Given the description of an element on the screen output the (x, y) to click on. 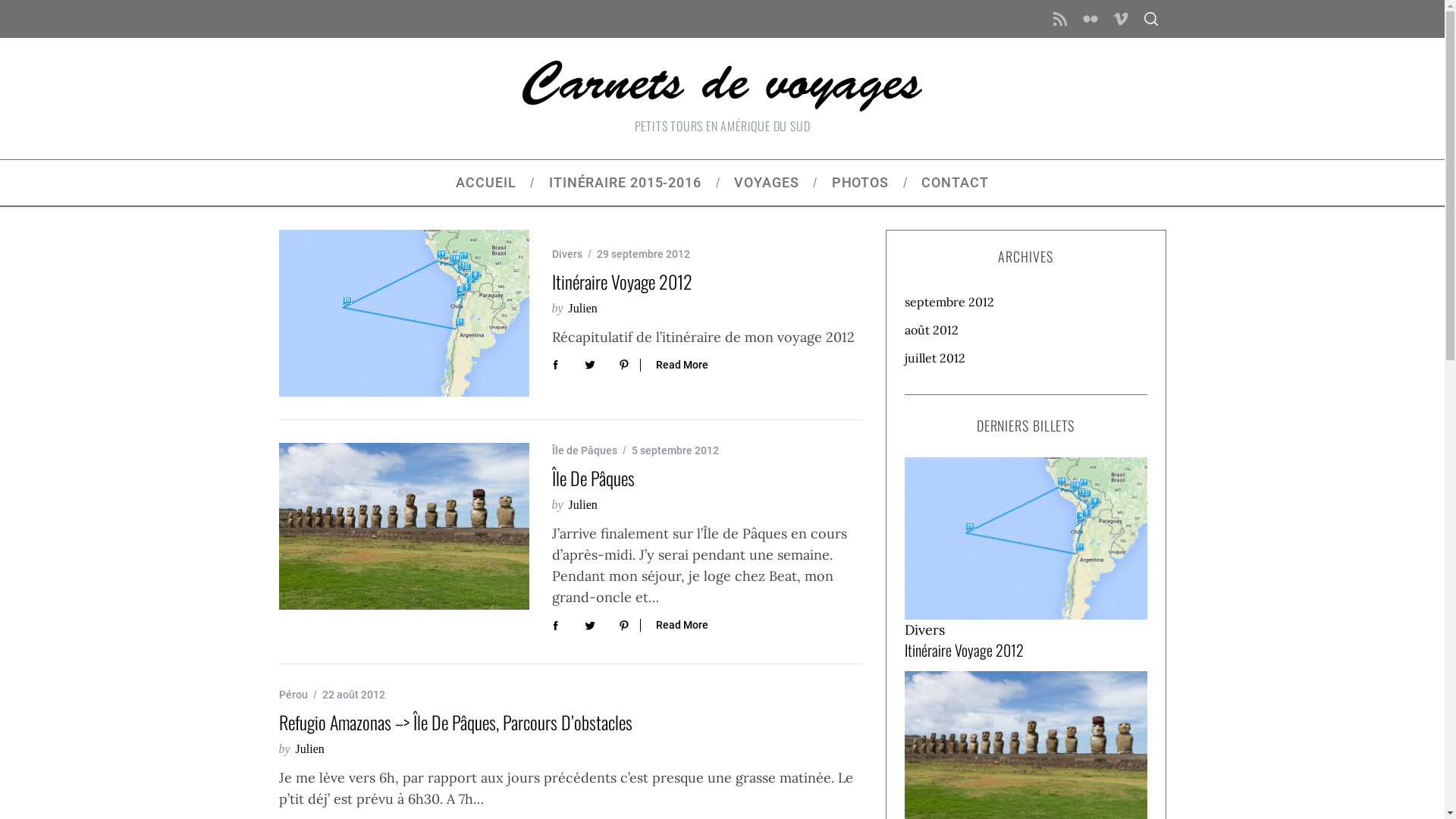
VOYAGES Element type: text (766, 182)
Read More Element type: text (674, 624)
ACCUEIL Element type: text (486, 182)
CONTACT Element type: text (955, 182)
Julien Element type: text (309, 748)
Julien Element type: text (582, 504)
septembre 2012 Element type: text (1024, 301)
juillet 2012 Element type: text (1024, 357)
PHOTOS Element type: text (860, 182)
Divers Element type: text (567, 253)
Read More Element type: text (674, 364)
Julien Element type: text (582, 307)
Divers Element type: text (923, 629)
